Given the description of an element on the screen output the (x, y) to click on. 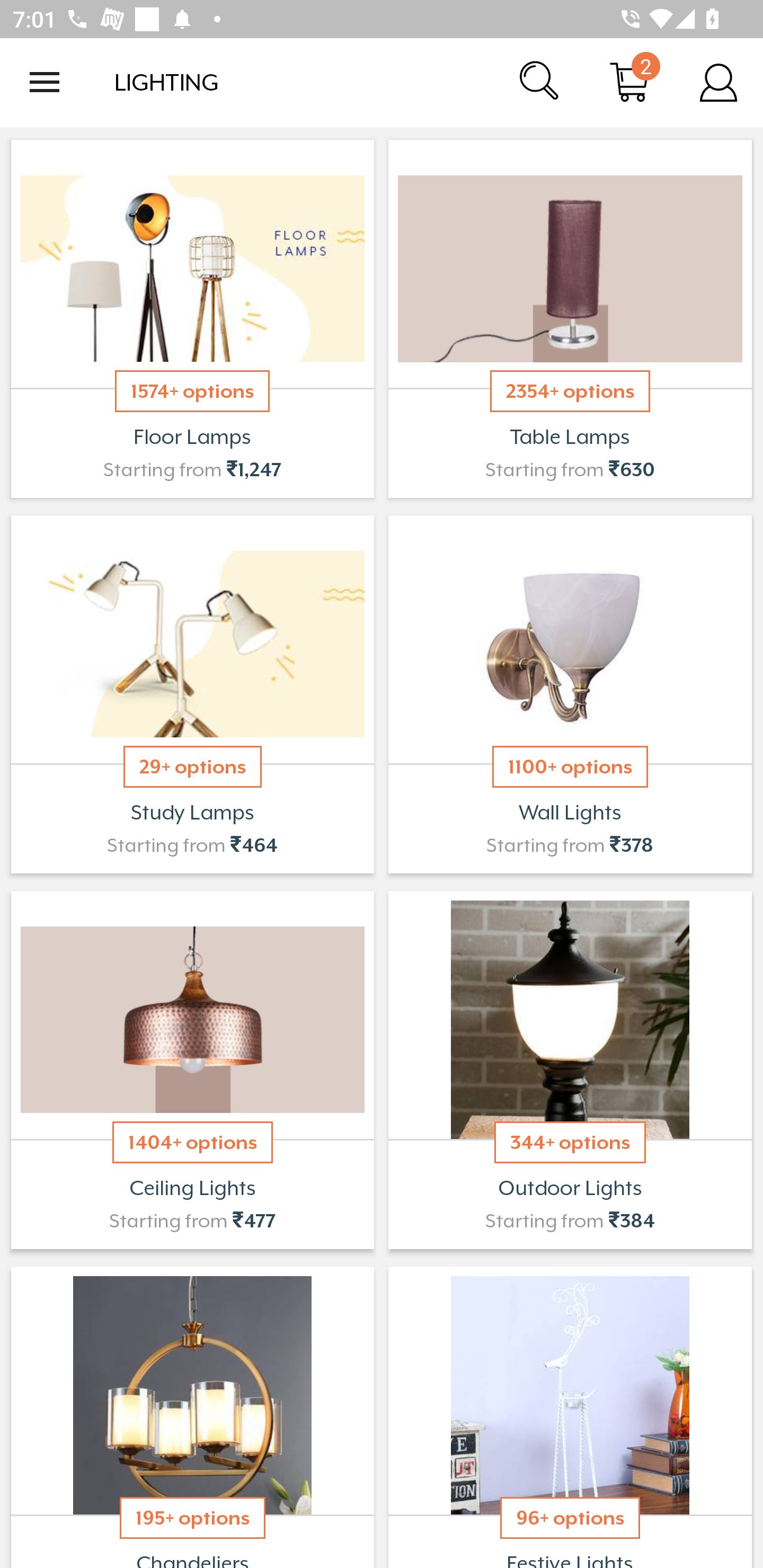
Open navigation drawer (44, 82)
Search (540, 81)
Cart (629, 81)
Account Details (718, 81)
1574+ options Floor Lamps Starting from  ₹1,247 (191, 318)
2354+ options Table Lamps Starting from  ₹630 (570, 318)
29+ options Study Lamps Starting from  ₹464 (191, 694)
1100+ options Wall Lights Starting from  ₹378 (570, 694)
1404+ options Ceiling Lights Starting from  ₹477 (191, 1069)
344+ options Outdoor Lights Starting from  ₹384 (570, 1069)
195+ options Chandeliers (191, 1415)
96+ options Festive Lights (570, 1415)
